Given the description of an element on the screen output the (x, y) to click on. 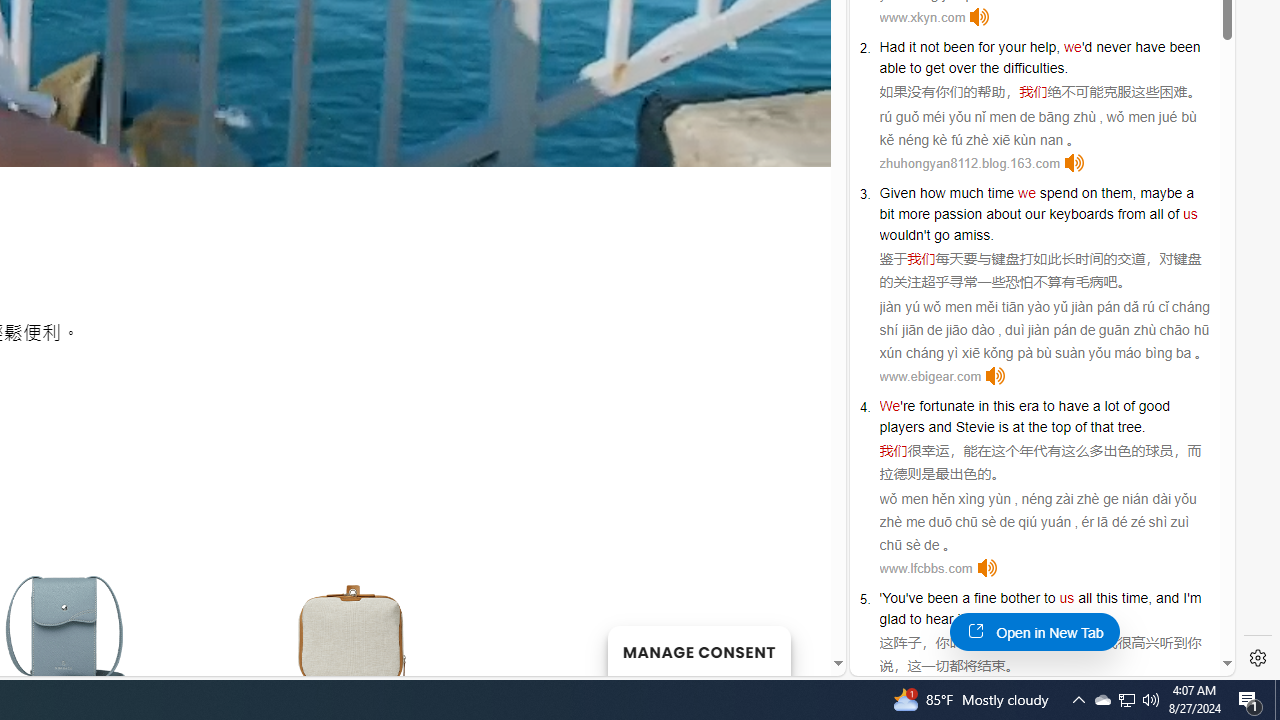
era (1028, 405)
your (1012, 46)
www.lfcbbs.com (925, 568)
Click to listen (986, 568)
hear (939, 619)
